Given the description of an element on the screen output the (x, y) to click on. 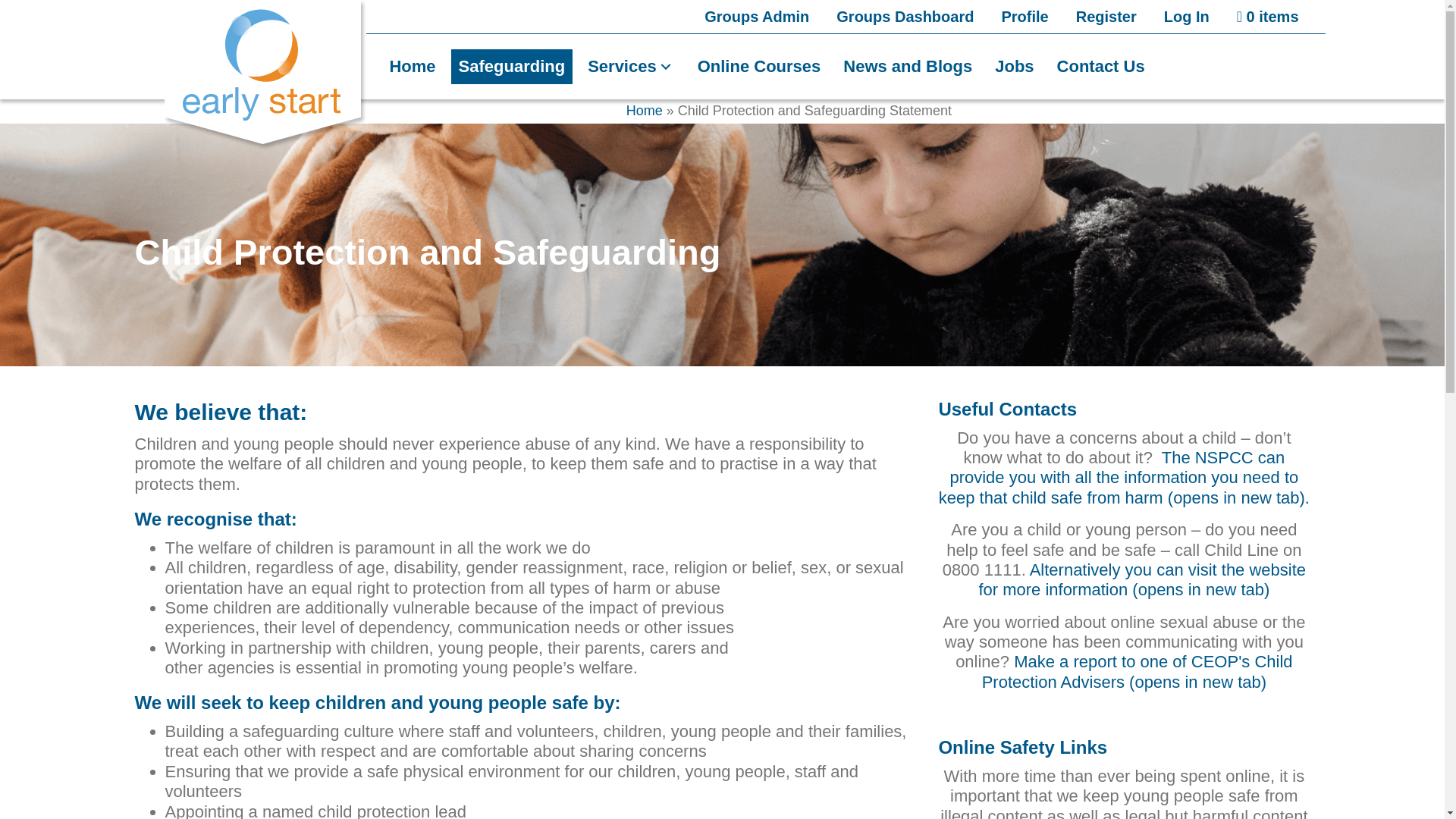
Groups Admin (757, 16)
Safeguarding (512, 66)
Online Courses (759, 66)
Home (411, 66)
Log In (1187, 16)
Services (630, 66)
Contact Us (1101, 66)
Home (644, 110)
Groups Dashboard (905, 16)
News and Blogs (907, 66)
Jobs (1014, 66)
Early-Start-Group-2 (264, 74)
Register (1106, 16)
0 items (1267, 16)
Profile (1024, 16)
